Given the description of an element on the screen output the (x, y) to click on. 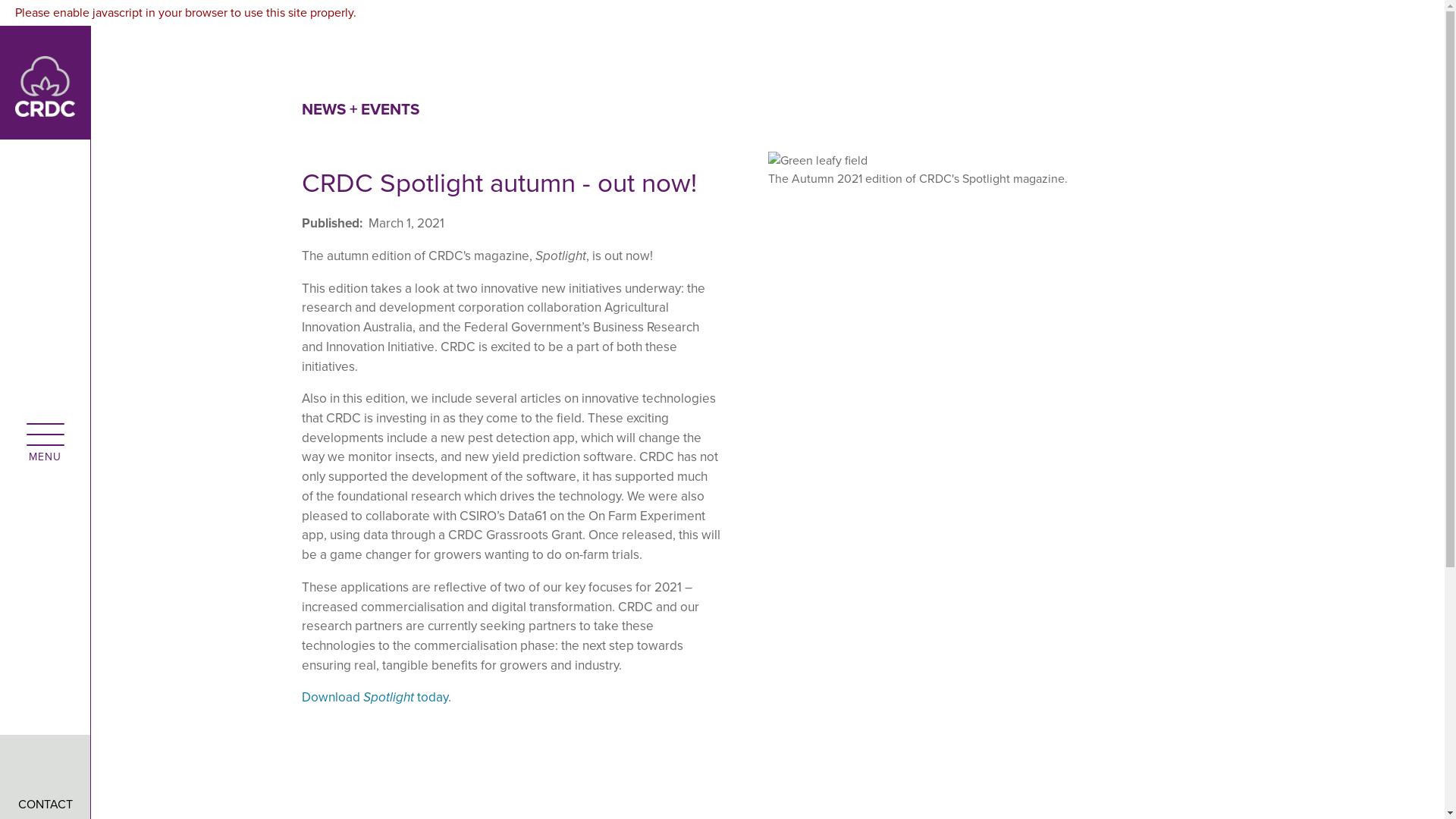
Download Spotlight today Element type: text (374, 696)
NEWS + EVENTS Element type: text (360, 108)
open menu Element type: hover (44, 432)
Home Element type: hover (45, 81)
Skip to main content Element type: text (722, 9)
